Given the description of an element on the screen output the (x, y) to click on. 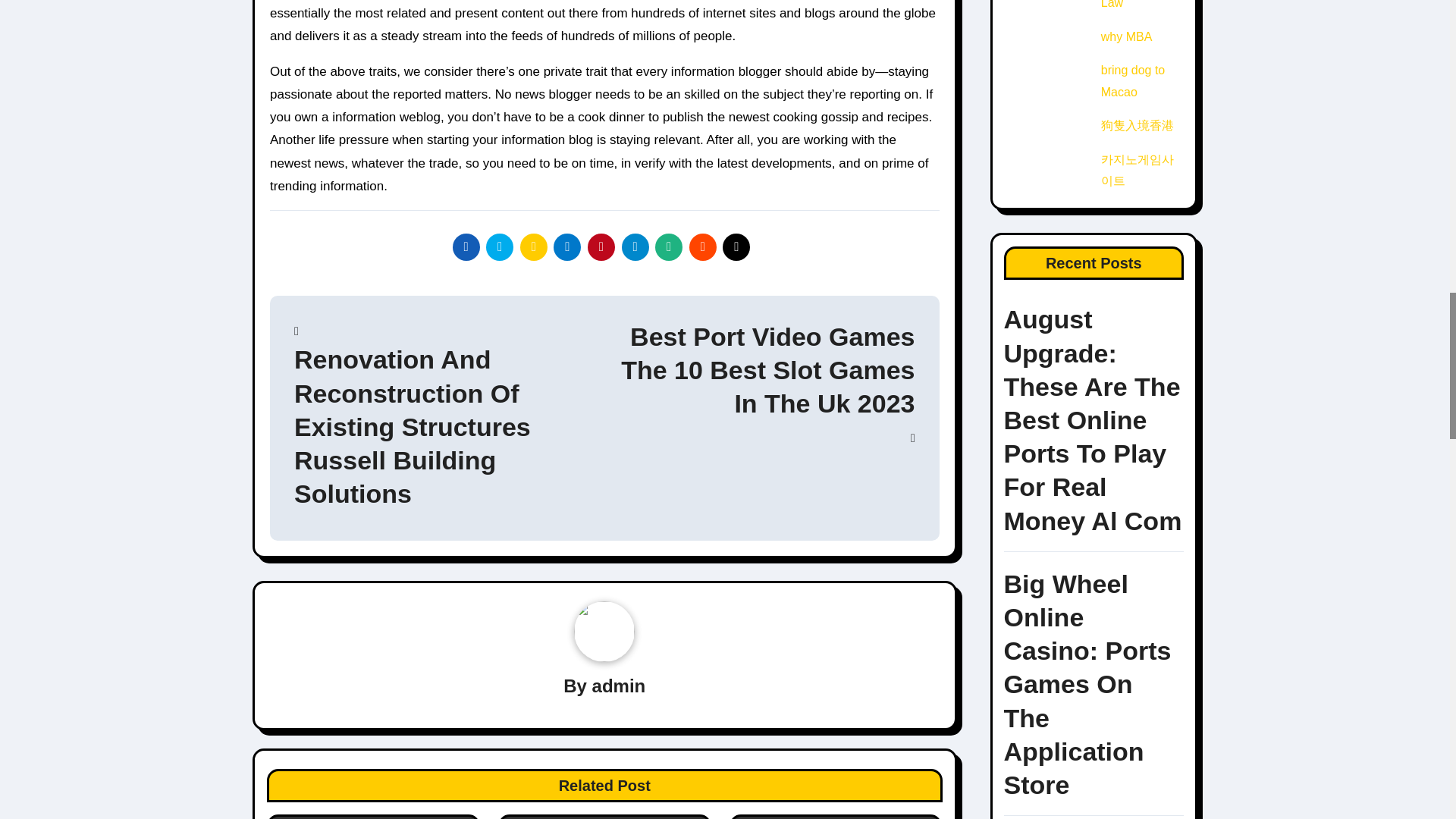
Best Port Video Games The 10 Best Slot Games In The Uk 2023 (759, 382)
